Given the description of an element on the screen output the (x, y) to click on. 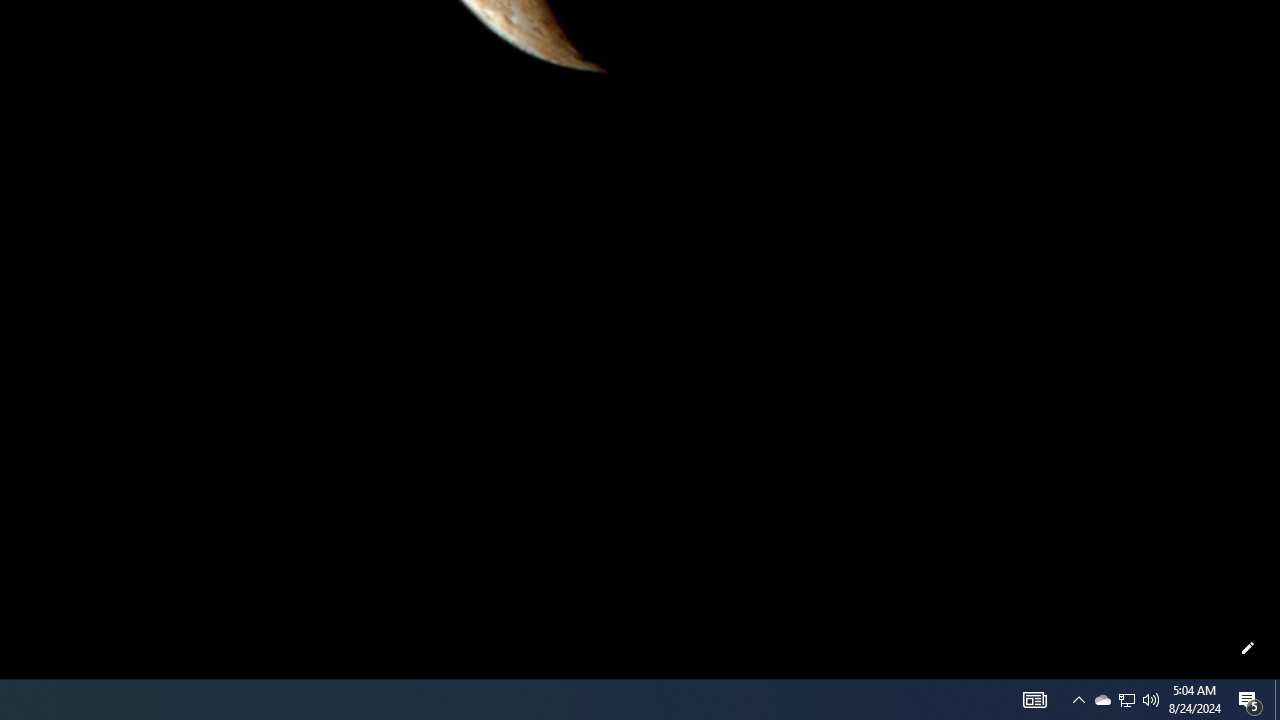
Customize this page (1247, 647)
